Given the description of an element on the screen output the (x, y) to click on. 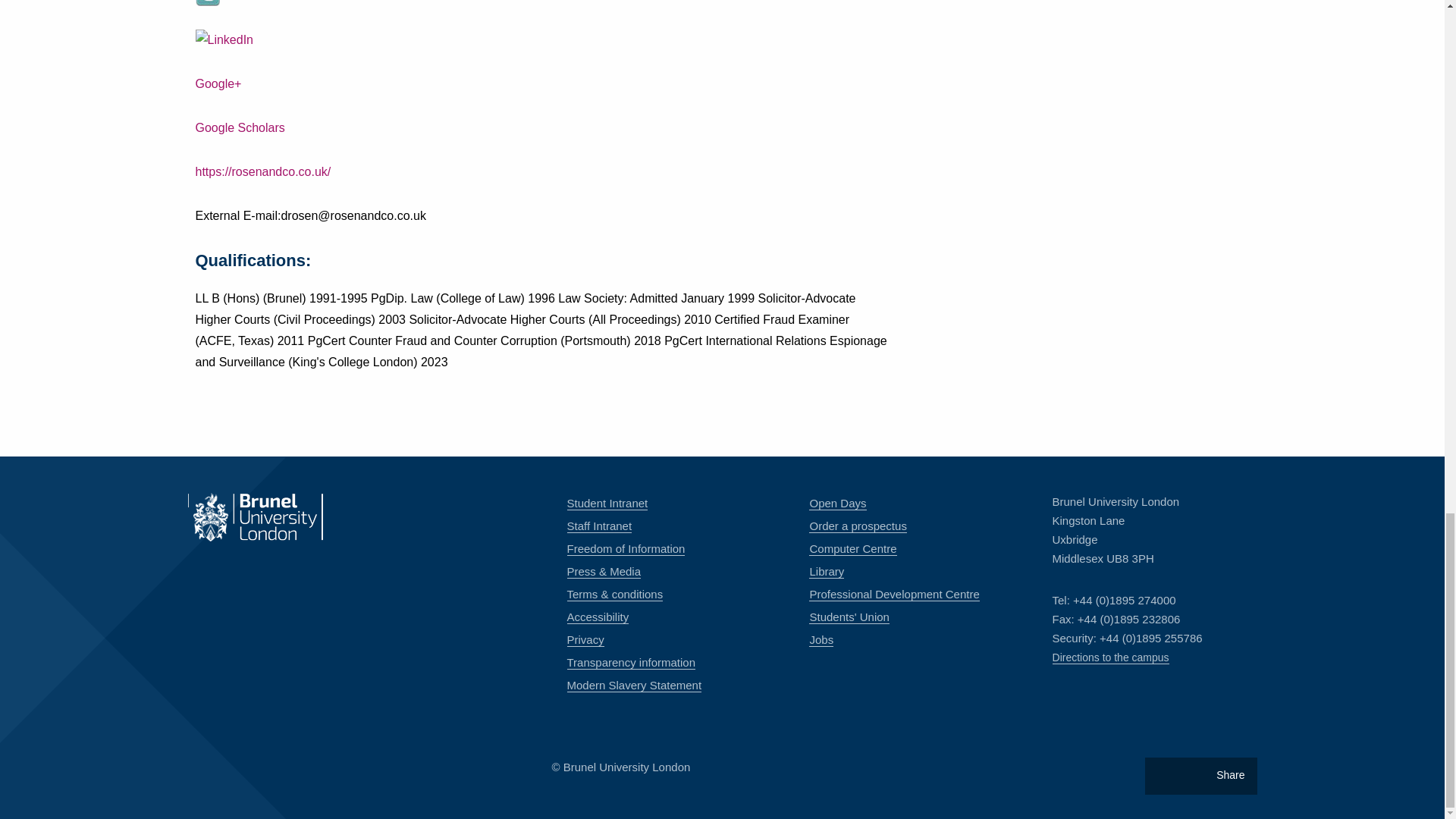
Finding us (1110, 657)
